Given the description of an element on the screen output the (x, y) to click on. 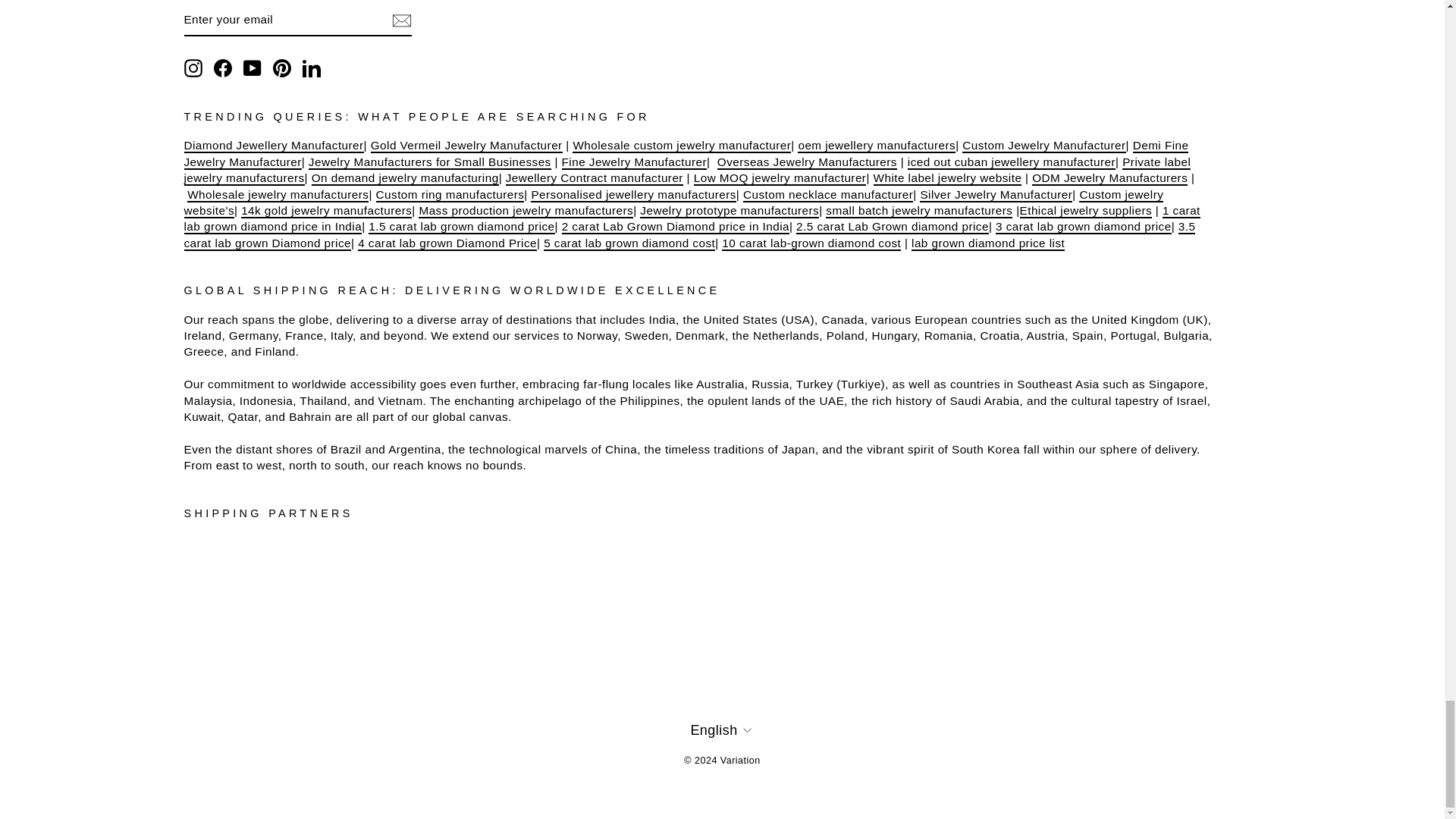
Wholesale custom jewelry manufacturer (681, 145)
Diamond Jewellery Manufacturer (272, 145)
Gold Vermeil Jewelry Manufacturer (466, 145)
instagram (192, 67)
icon-email (400, 20)
Variation on Instagram (192, 67)
Variation on LinkedIn (310, 67)
Variation on YouTube (251, 67)
Variation on Pinterest (282, 67)
Variation on Facebook (222, 67)
